Given the description of an element on the screen output the (x, y) to click on. 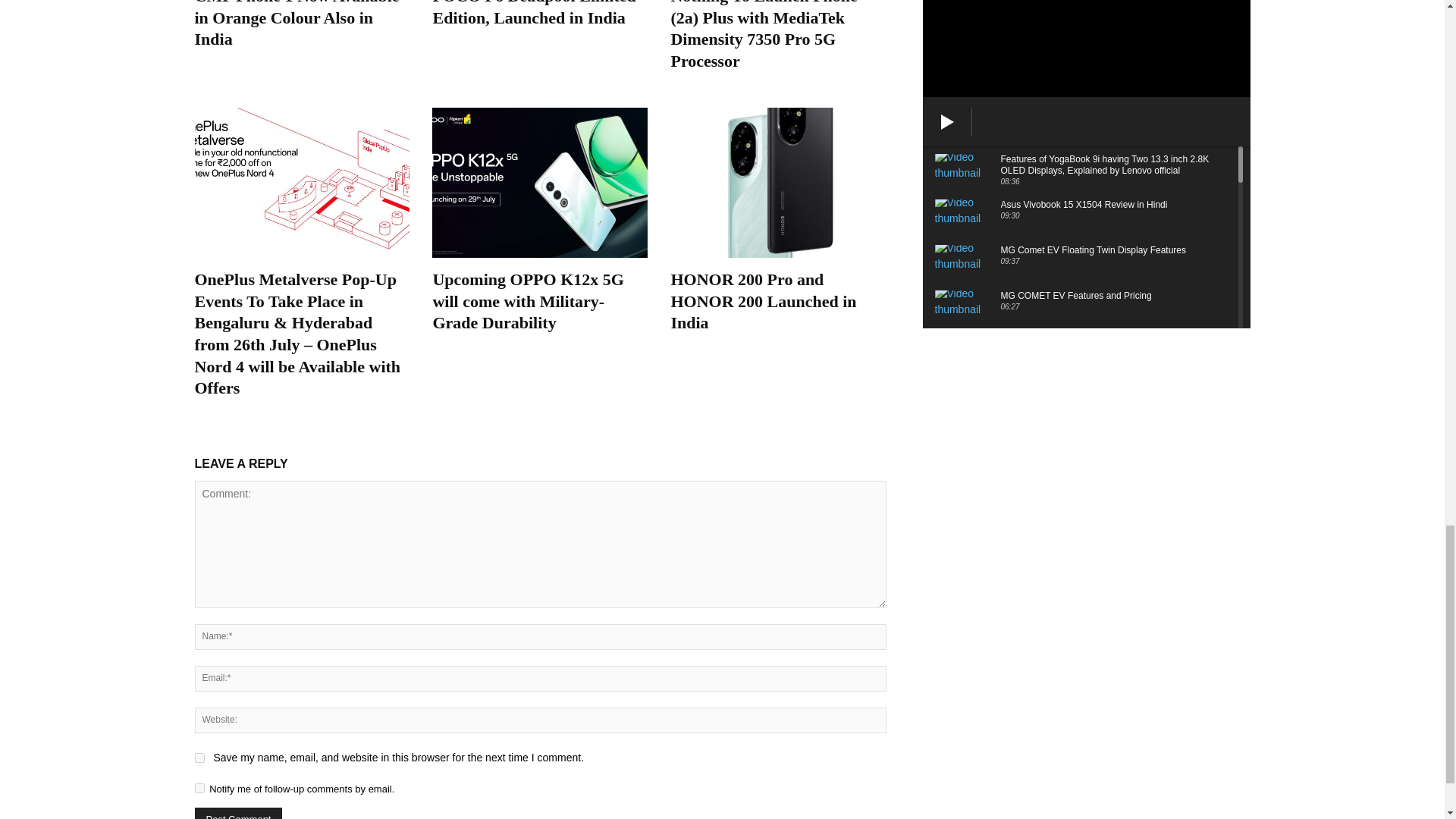
Post Comment (237, 813)
yes (198, 757)
subscribe (198, 787)
